Given the description of an element on the screen output the (x, y) to click on. 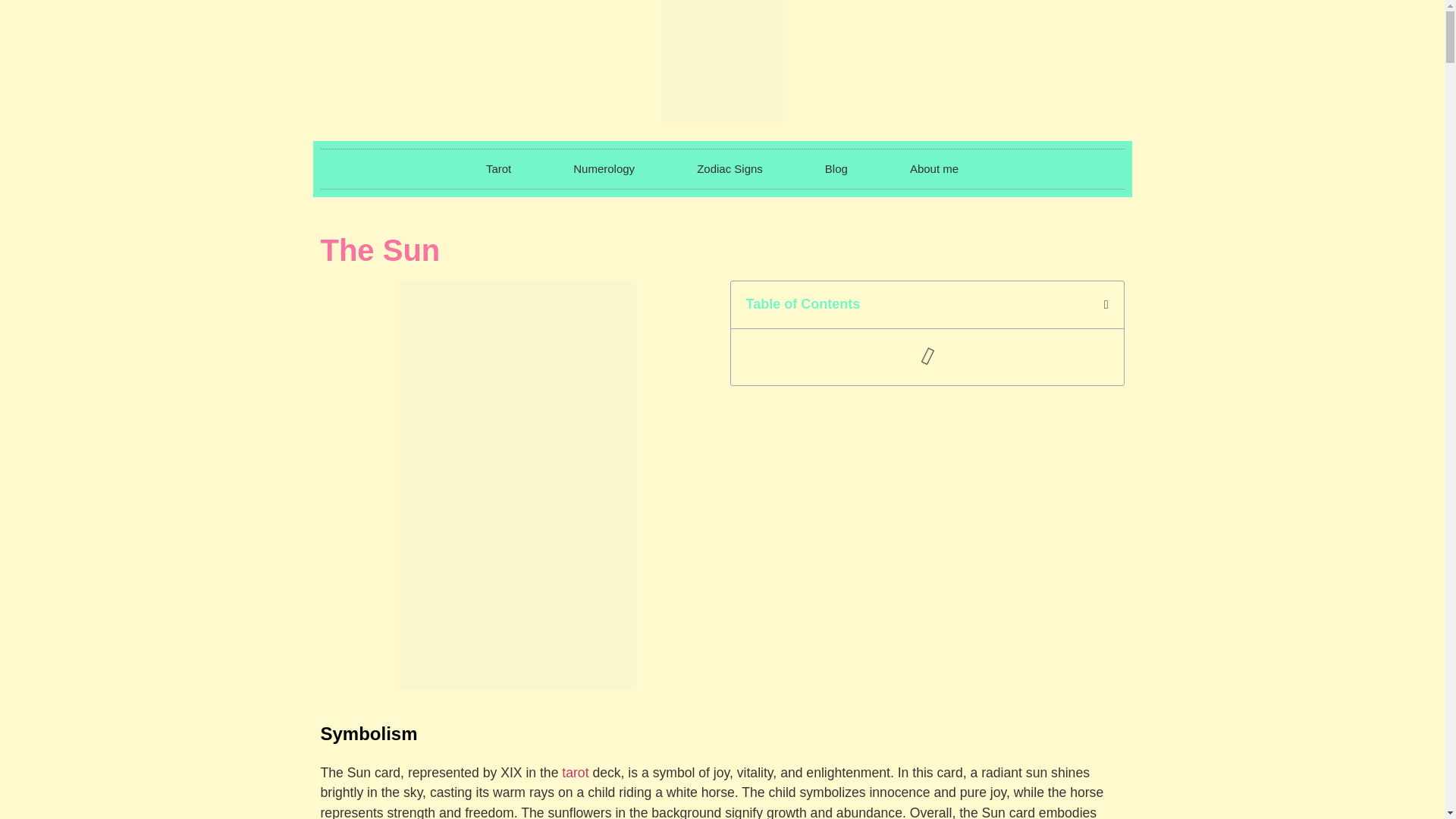
Zodiac Signs (729, 169)
Numerology (603, 169)
About me (934, 169)
Tarot (497, 169)
Blog (836, 169)
tarot (575, 772)
